Given the description of an element on the screen output the (x, y) to click on. 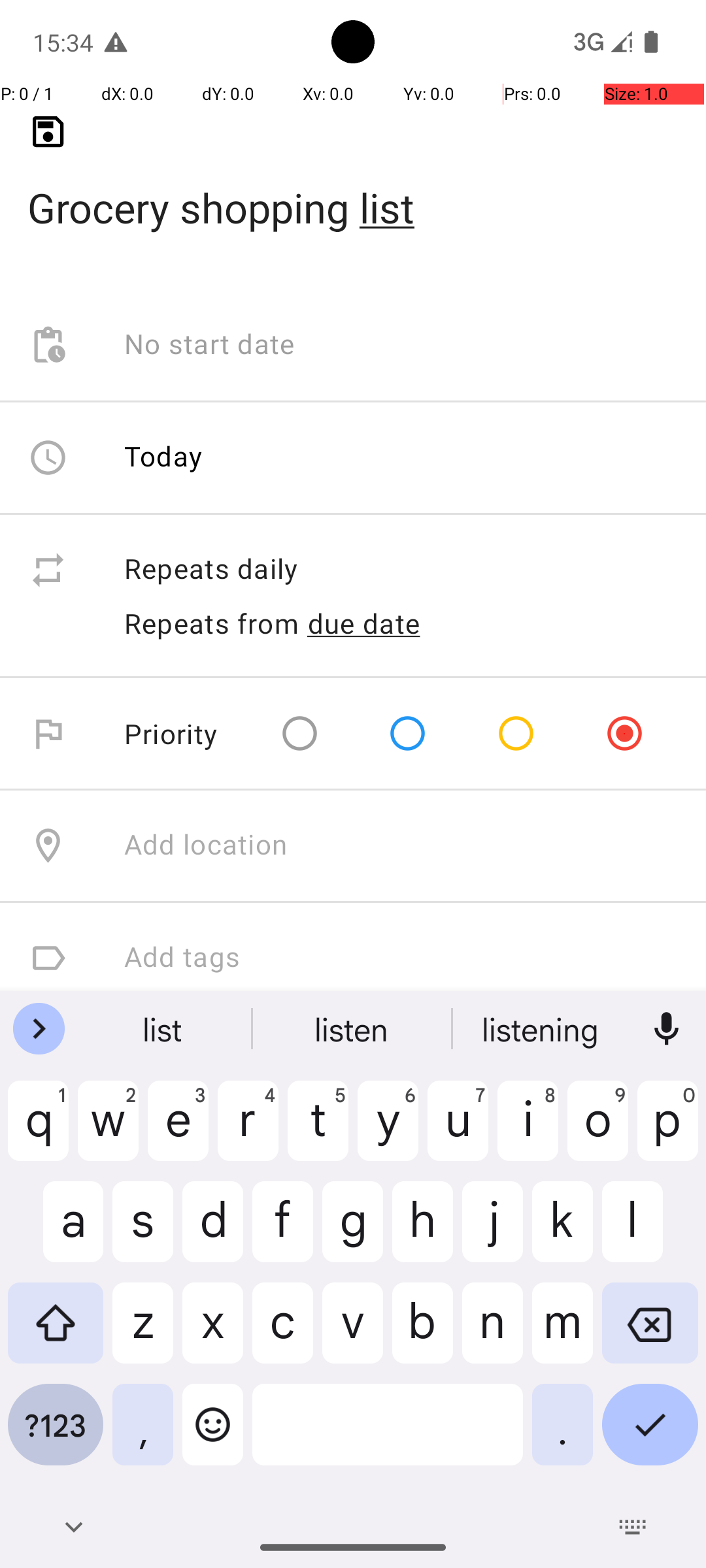
Grocery shopping list Element type: android.widget.EditText (353, 186)
No start date Element type: android.widget.TextView (209, 344)
Repeats daily Element type: android.widget.TextView (400, 569)
Repeats from Element type: android.widget.TextView (211, 622)
due date Element type: android.widget.TextView (363, 623)
list Element type: android.widget.FrameLayout (163, 1028)
listen Element type: android.widget.FrameLayout (352, 1028)
listening Element type: android.widget.FrameLayout (541, 1028)
